Given the description of an element on the screen output the (x, y) to click on. 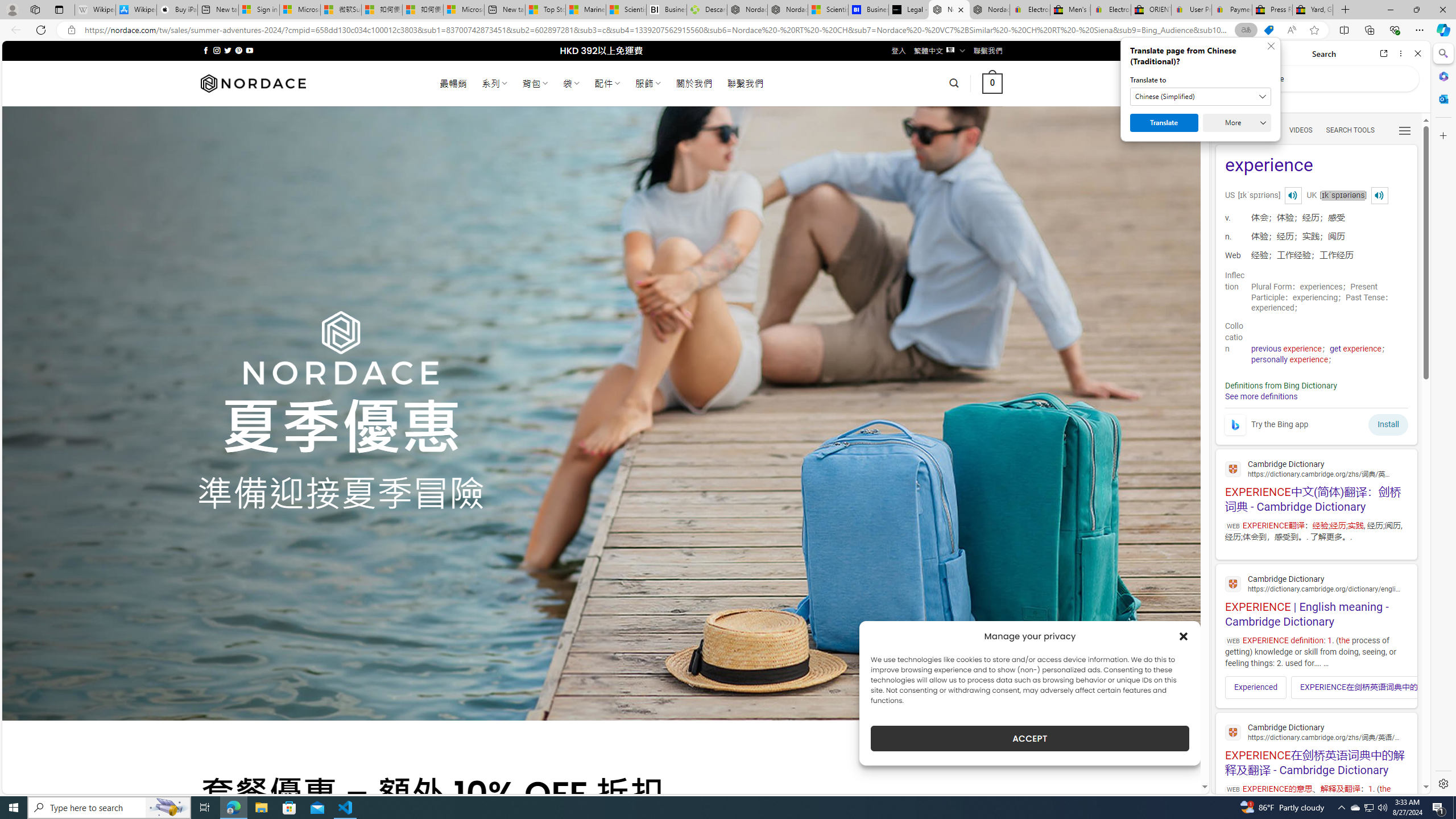
get experience (1355, 348)
Follow on Facebook (205, 50)
App bar (728, 29)
Forward (1242, 53)
More options (1401, 53)
Follow on Instagram (216, 50)
Search Filter, IMAGES (1262, 129)
EXPERIENCE | English meaning - Cambridge Dictionary (1315, 599)
